Given the description of an element on the screen output the (x, y) to click on. 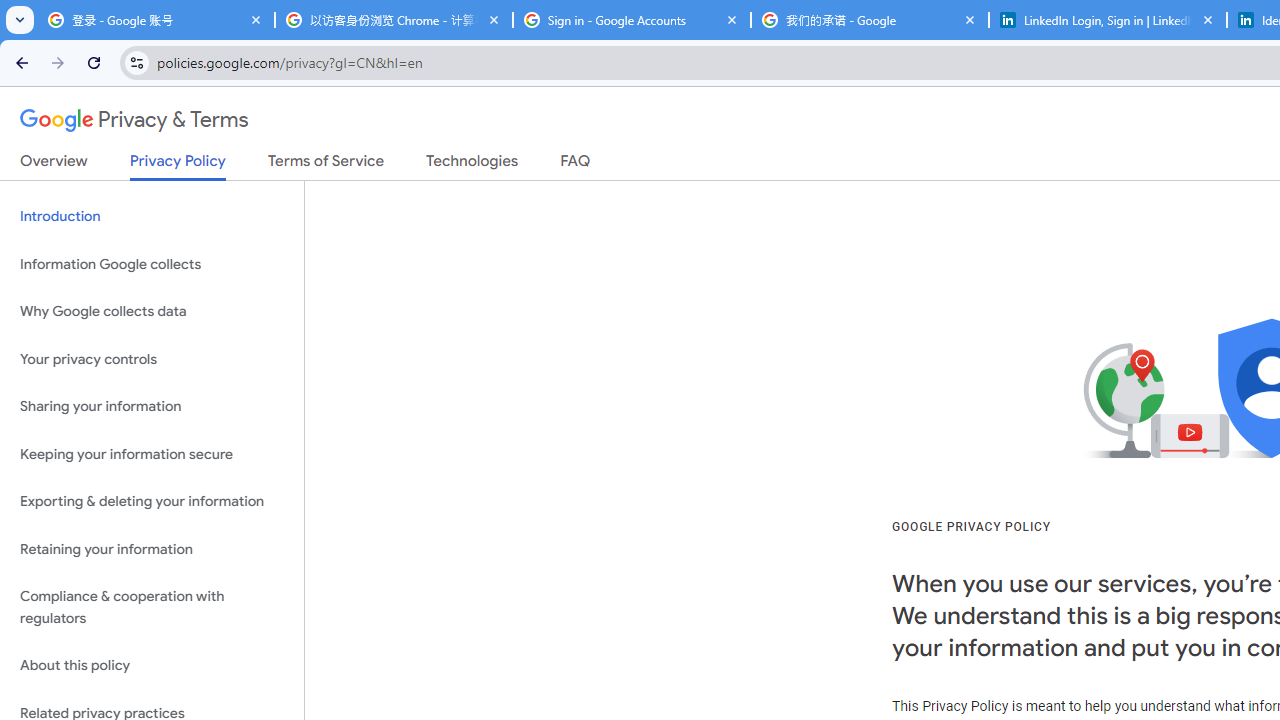
Compliance & cooperation with regulators (152, 607)
LinkedIn Login, Sign in | LinkedIn (1108, 20)
Why Google collects data (152, 312)
About this policy (152, 666)
Sign in - Google Accounts (632, 20)
Retaining your information (152, 548)
Exporting & deleting your information (152, 502)
